Given the description of an element on the screen output the (x, y) to click on. 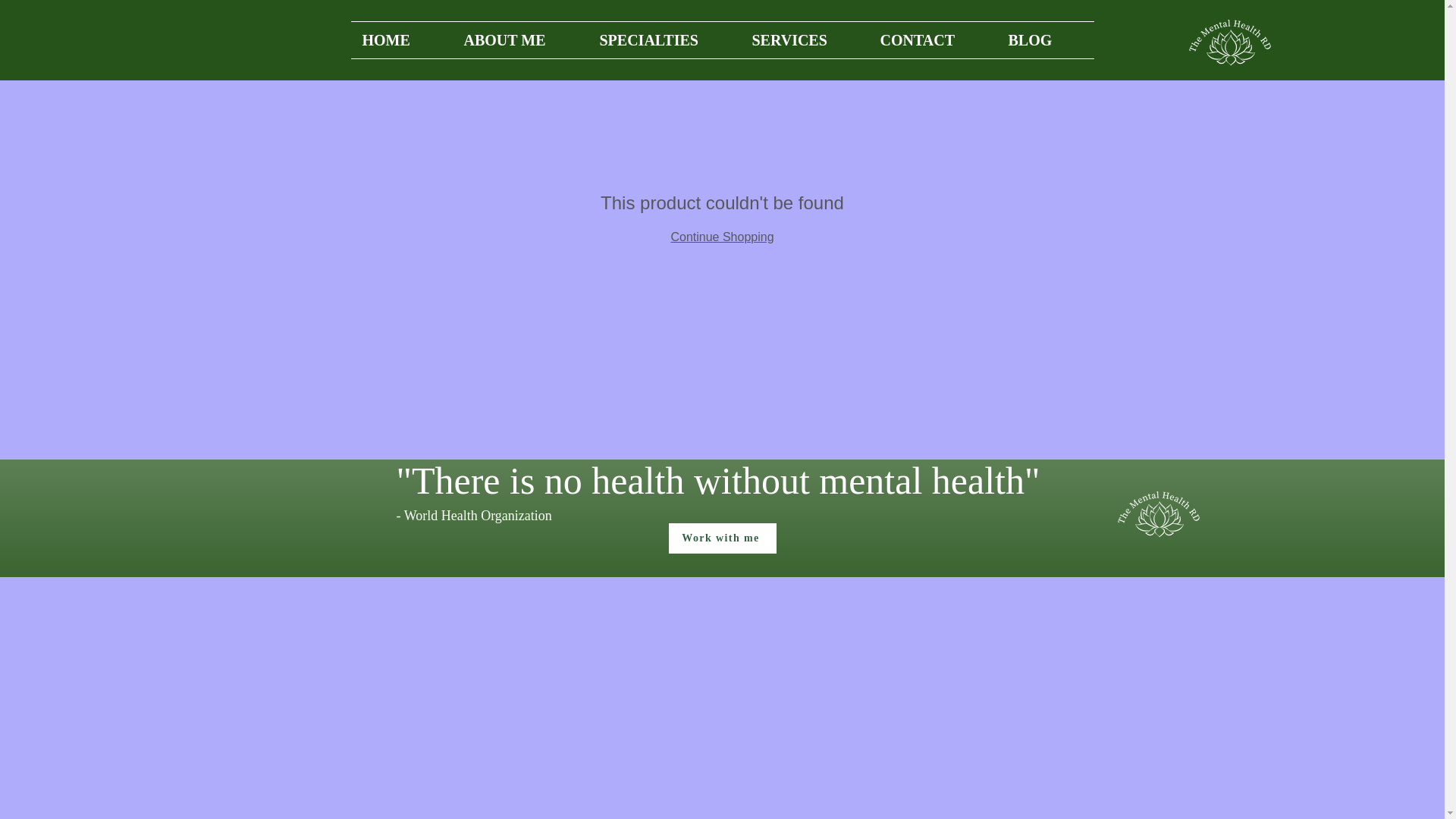
SERVICES (803, 40)
Work with me (722, 538)
the mental health dietitian (1231, 40)
ABOUT ME (519, 40)
BLOG (1044, 40)
Continue Shopping (721, 236)
HOME (400, 40)
SPECIALTIES (664, 40)
CONTACT (933, 40)
